Given the description of an element on the screen output the (x, y) to click on. 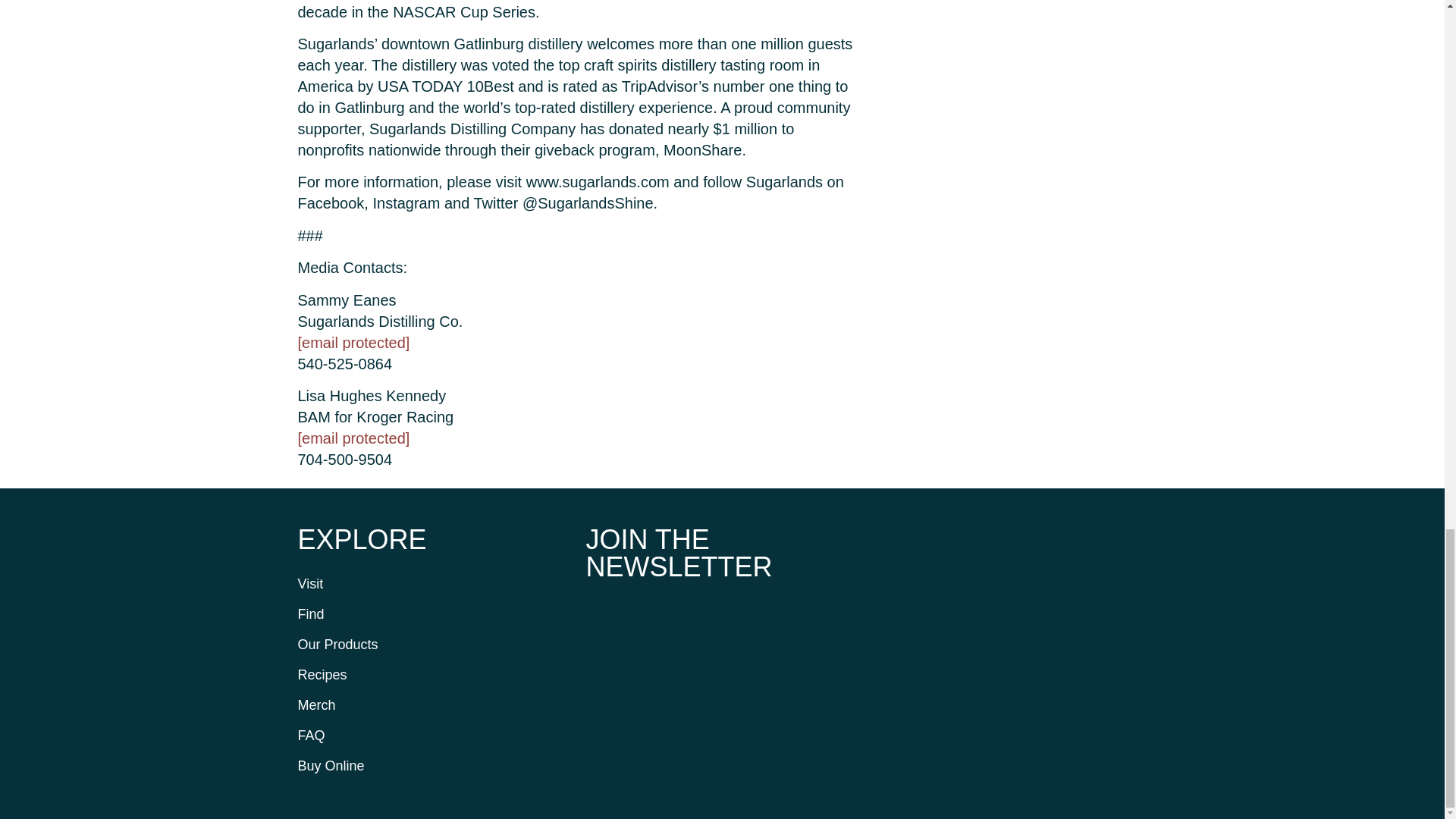
Merch (433, 705)
Our Products (433, 644)
FAQ (433, 735)
Find (433, 613)
Buy Online (433, 766)
Recipes (433, 675)
Visit (433, 583)
